Given the description of an element on the screen output the (x, y) to click on. 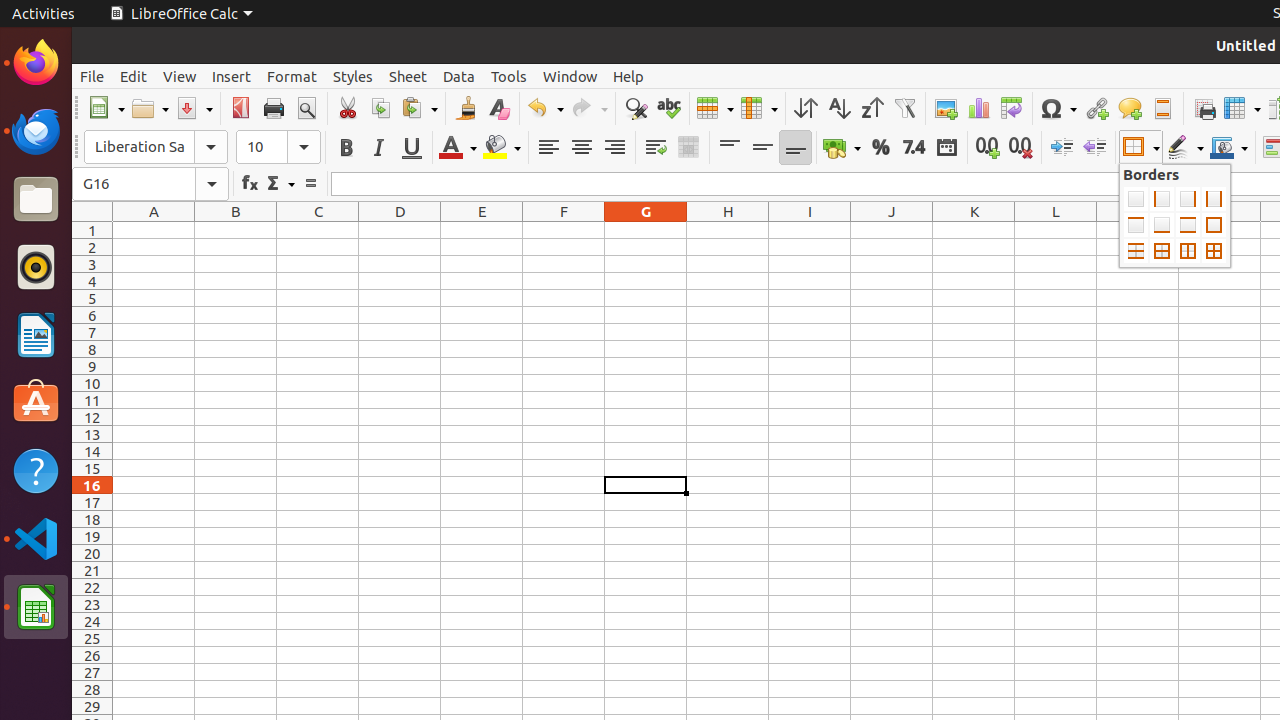
LibreOffice Writer Element type: push-button (36, 334)
Align Center Element type: push-button (581, 147)
Align Bottom Element type: push-button (795, 147)
Font Name Element type: combo-box (156, 147)
Symbol Element type: push-button (1058, 108)
